Given the description of an element on the screen output the (x, y) to click on. 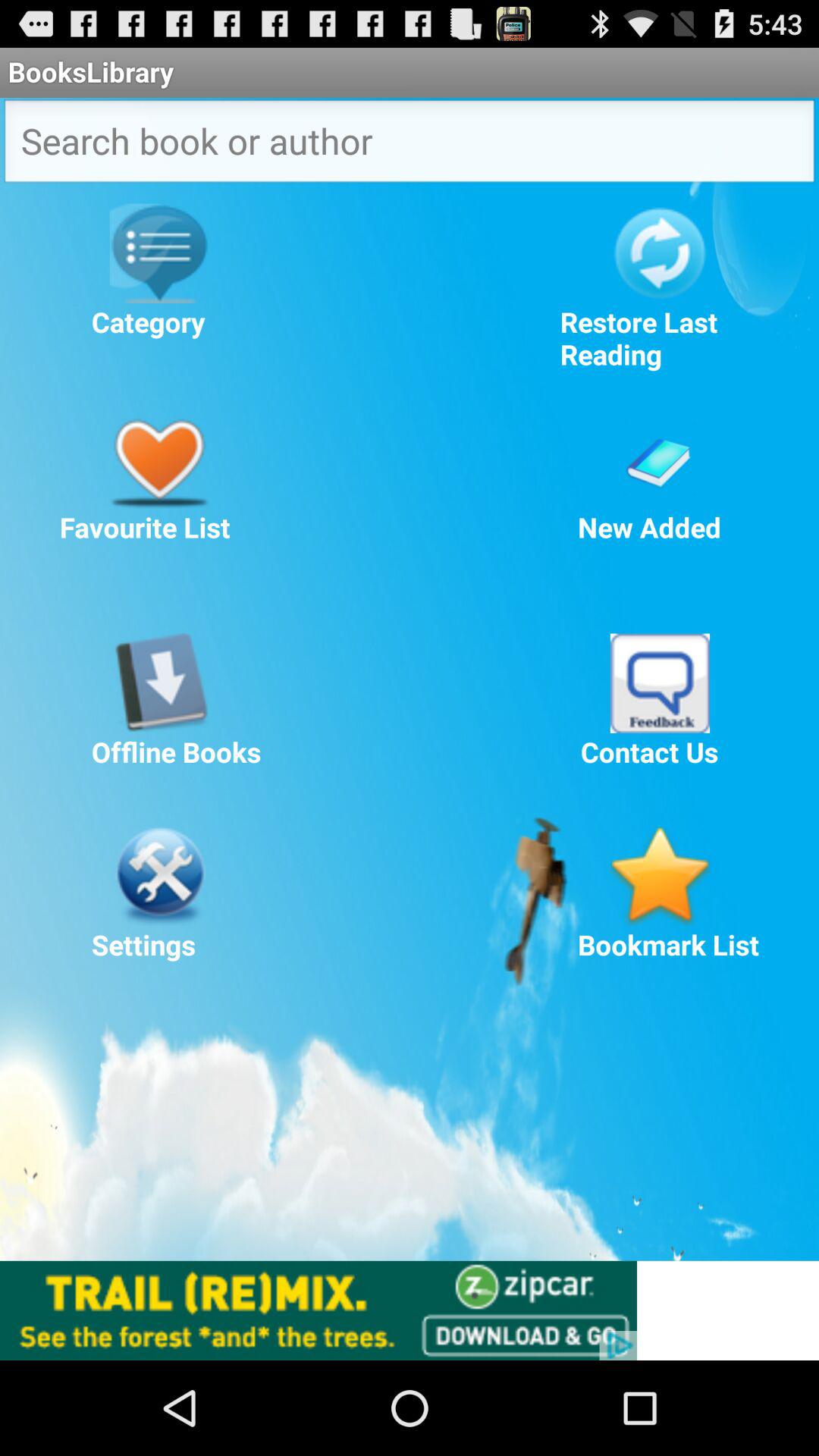
go to new added (659, 458)
